Given the description of an element on the screen output the (x, y) to click on. 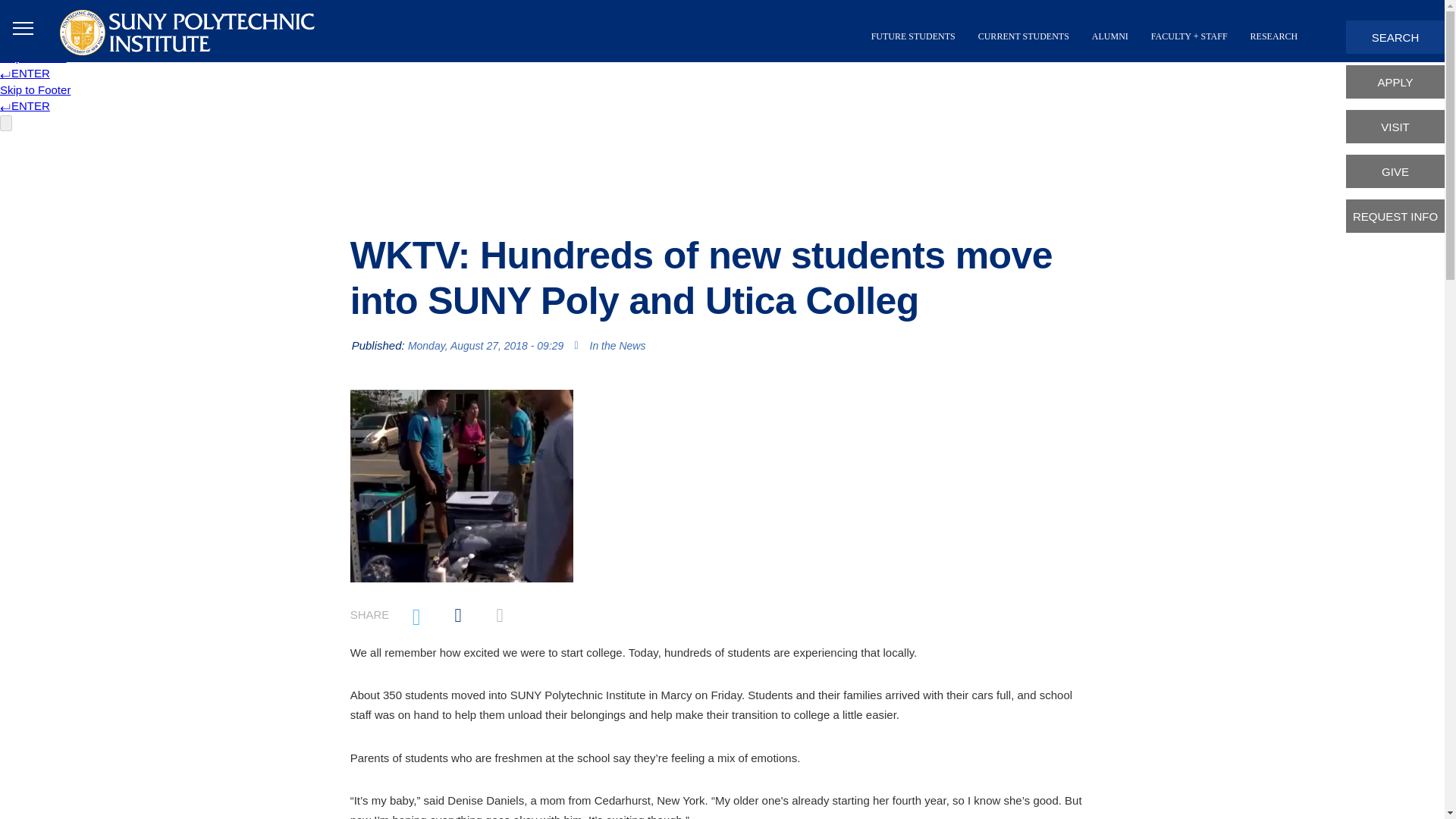
CURRENT STUDENTS (1023, 35)
Send by email (499, 614)
Open Menu (22, 28)
SUNY Menu (22, 28)
ALUMNI (1110, 35)
Skip to main content (721, 132)
FUTURE STUDENTS (913, 35)
Share on Facebook (458, 614)
Share on Twitter (415, 614)
RESEARCH (1273, 35)
SUNY Poly research page (1273, 35)
Home (186, 31)
